Given the description of an element on the screen output the (x, y) to click on. 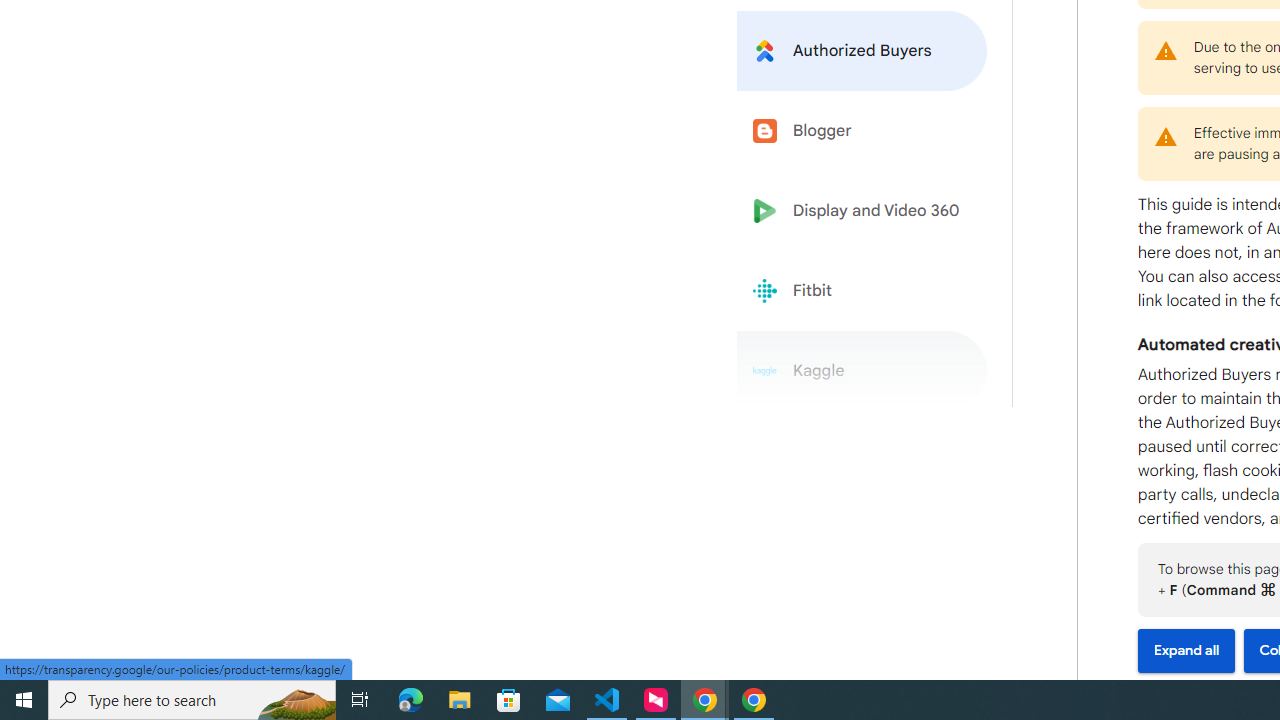
Blogger (862, 130)
Blogger (862, 130)
Learn more about Authorized Buyers (862, 50)
Kaggle (862, 371)
Display and Video 360 (862, 211)
Kaggle (862, 371)
Fitbit (862, 291)
Display and Video 360 (862, 211)
Fitbit (862, 291)
Expand all (1186, 651)
Learn more about Authorized Buyers (862, 50)
